Given the description of an element on the screen output the (x, y) to click on. 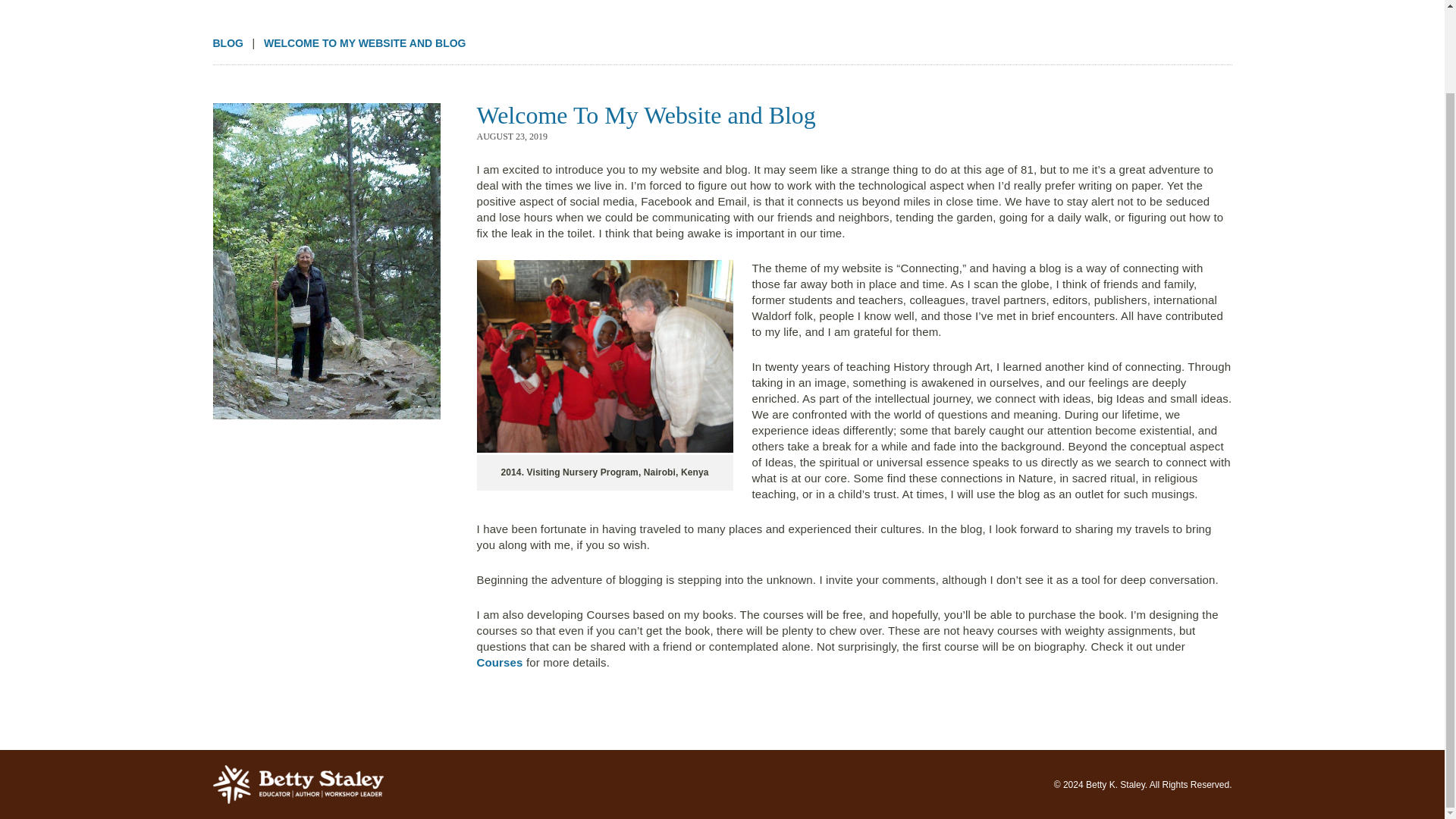
WELCOME TO MY WEBSITE AND BLOG (364, 42)
Courses (499, 662)
BLOG (227, 42)
